Given the description of an element on the screen output the (x, y) to click on. 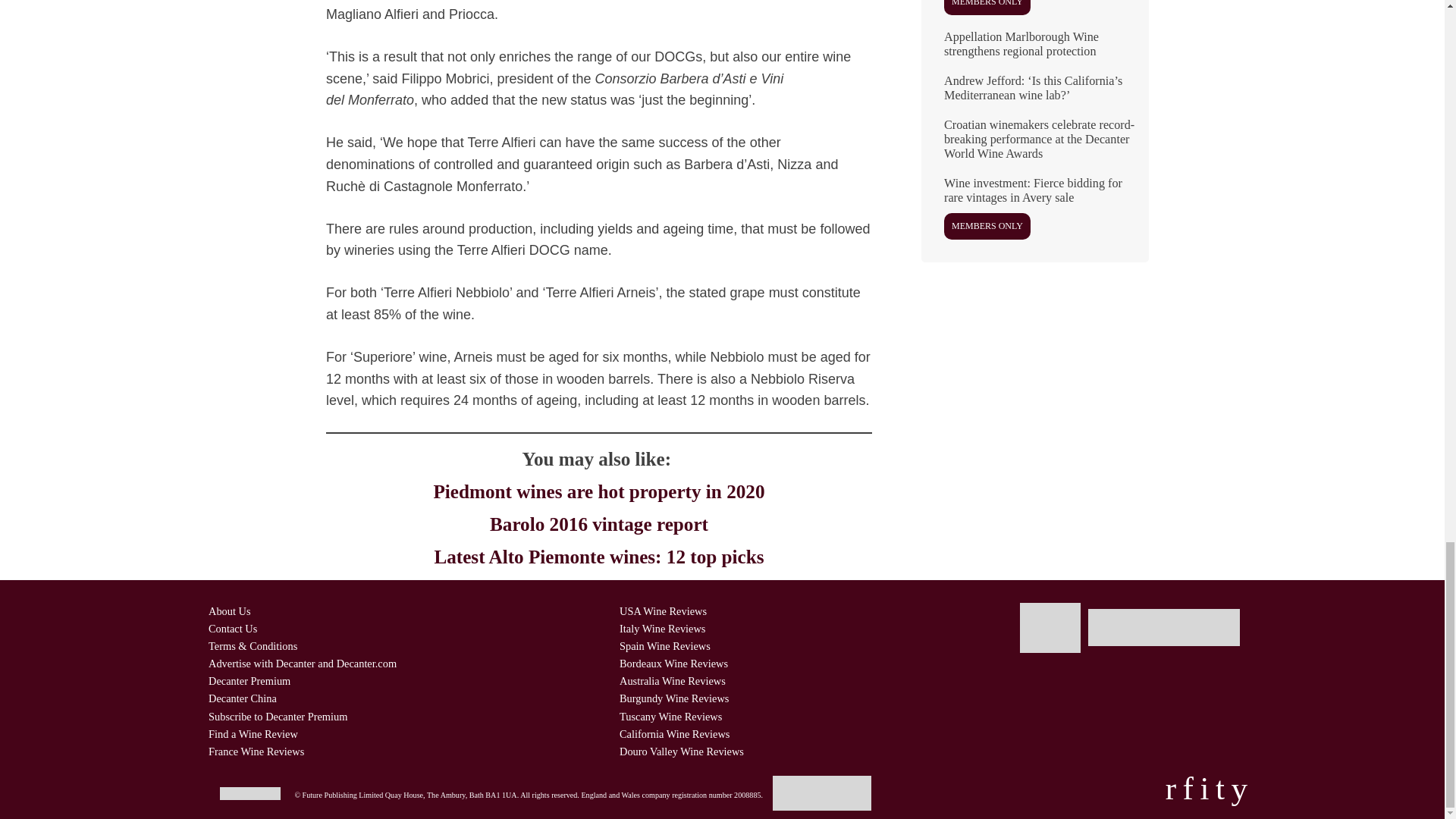
Appellation Marlborough Wine strengthens regional protection (1035, 50)
Pangaea: Putting the world in a bottle (1035, 13)
